Given the description of an element on the screen output the (x, y) to click on. 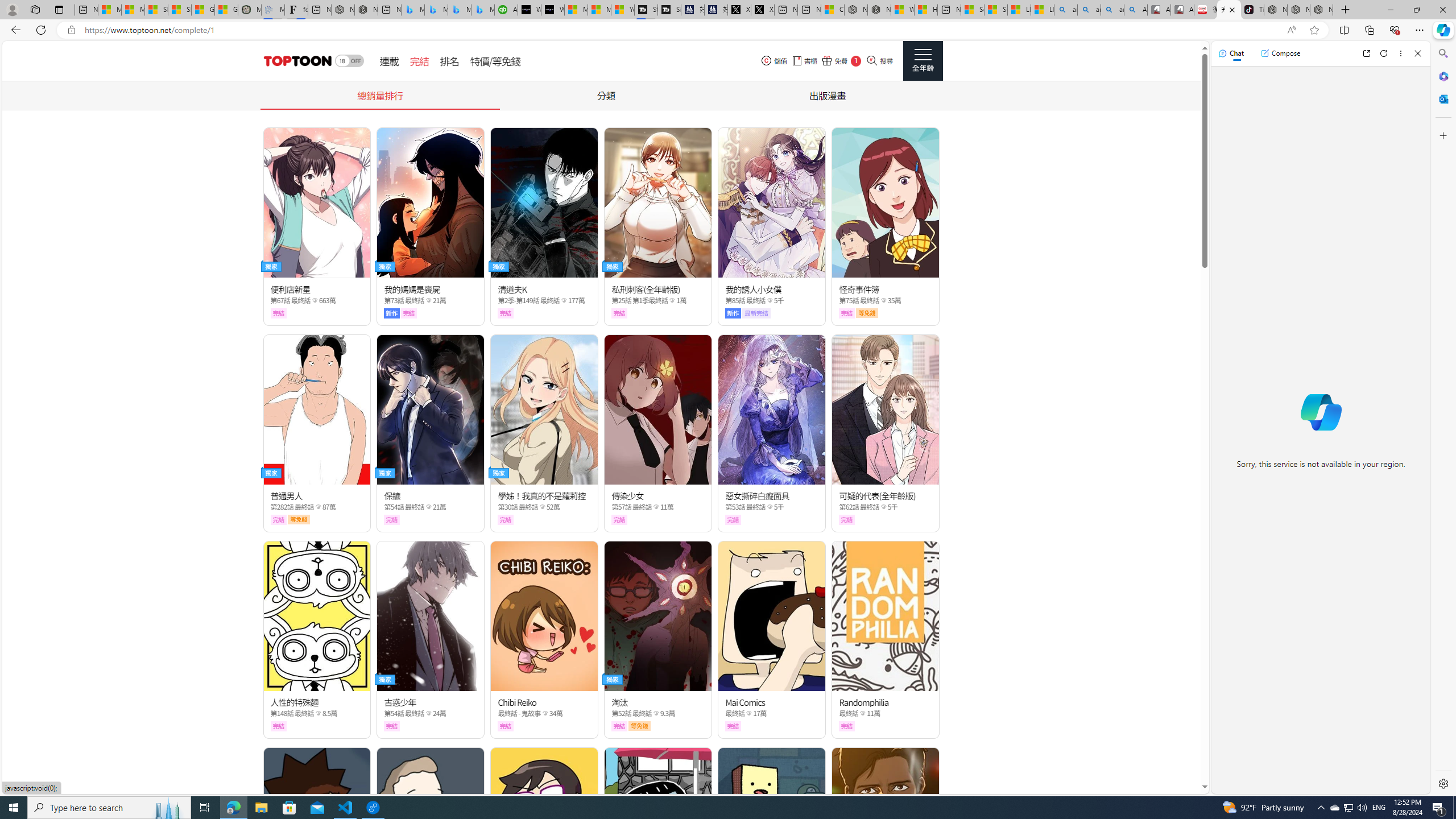
Class: epicon_starpoint (863, 712)
